Given the description of an element on the screen output the (x, y) to click on. 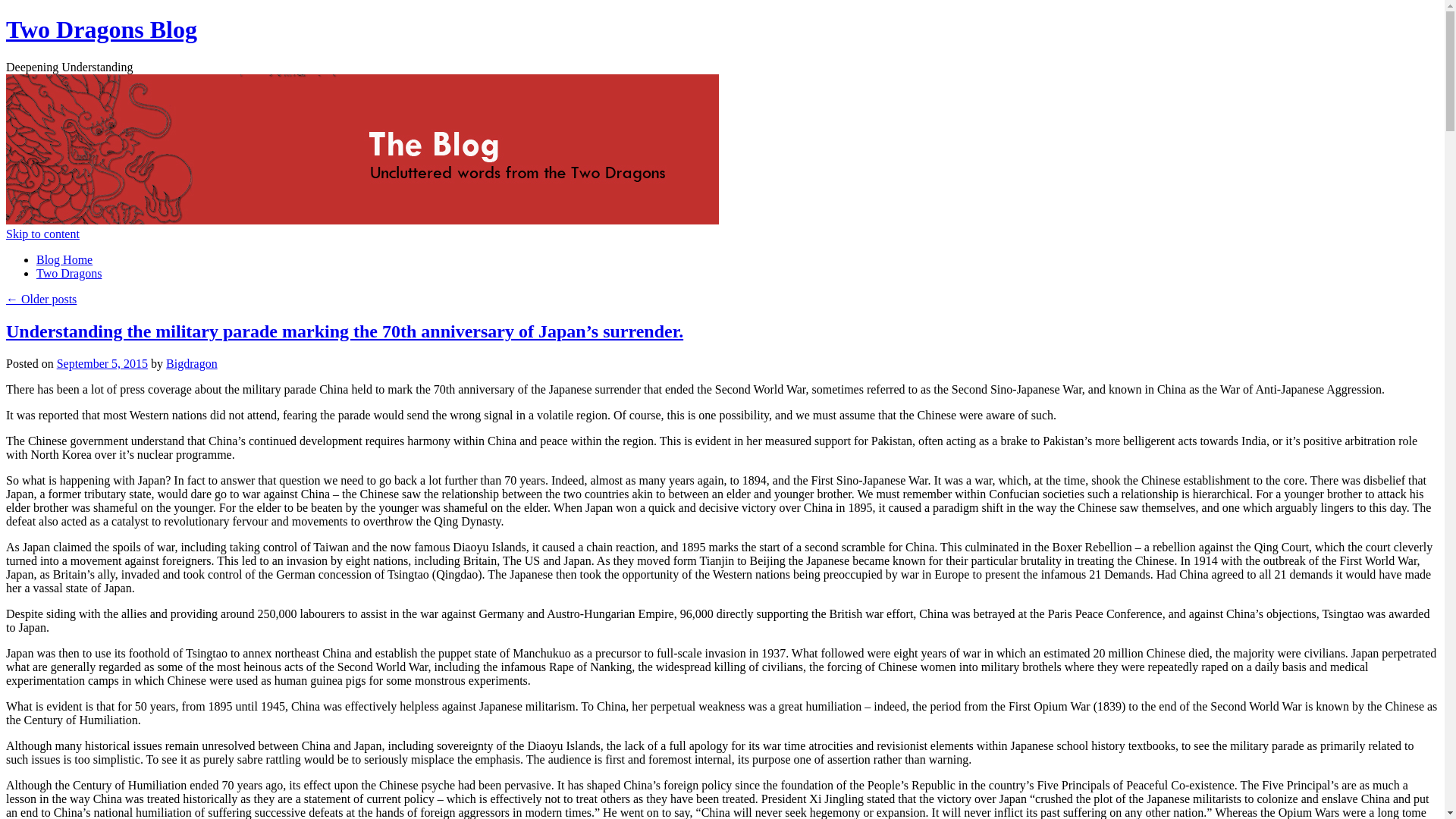
Skip to content (42, 233)
4:30 pm (102, 363)
Blog Home (64, 259)
Two Dragons Blog (100, 29)
Skip to content (42, 233)
September 5, 2015 (102, 363)
Two Dragons Blog (100, 29)
Bigdragon (190, 363)
Two Dragons (68, 273)
View all posts by Bigdragon (190, 363)
